Given the description of an element on the screen output the (x, y) to click on. 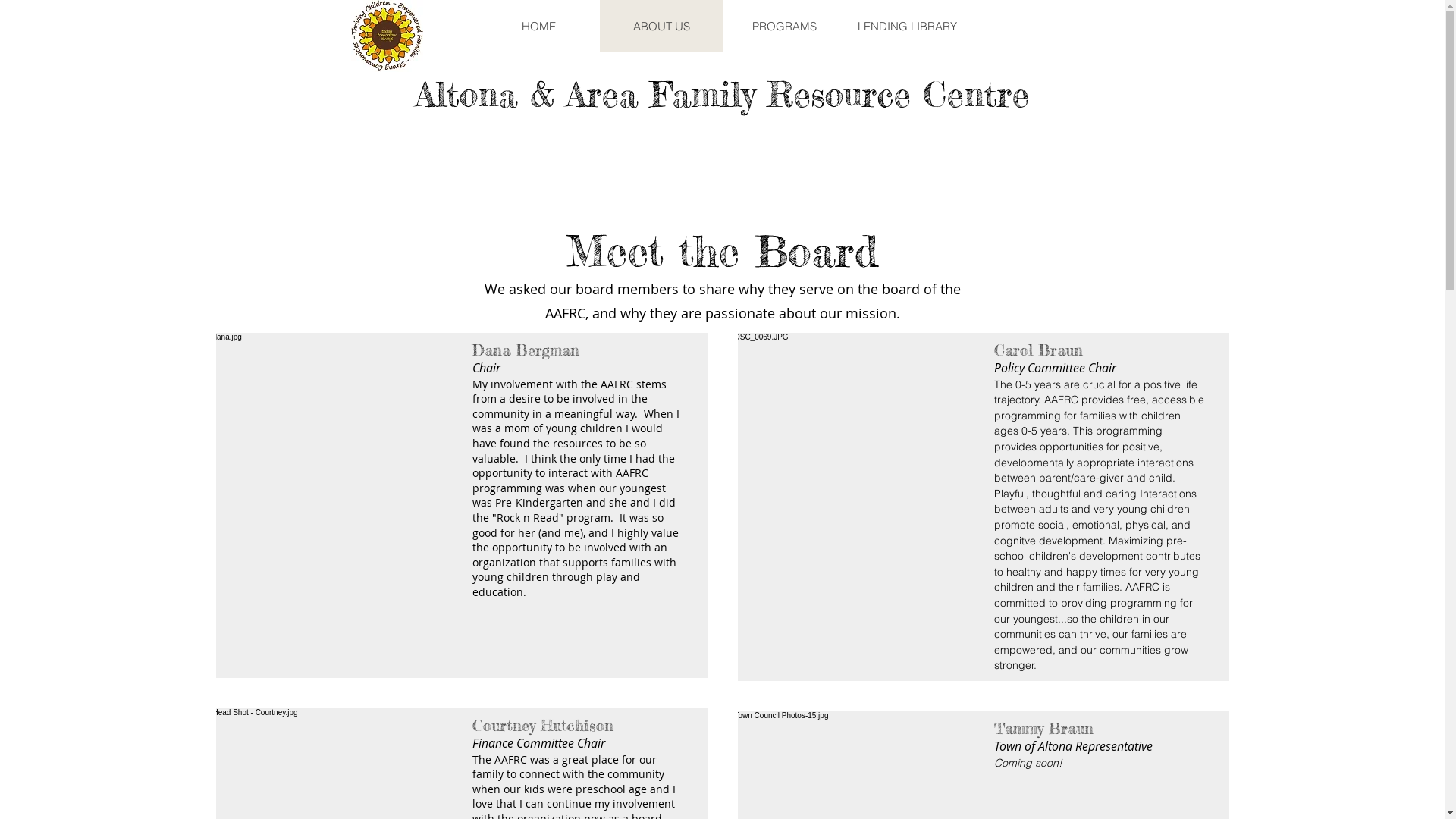
HOME Element type: text (537, 26)
PROGRAMS Element type: text (782, 26)
LENDING LIBRARY Element type: text (905, 26)
Altona & Area Family Resource Centre Element type: text (722, 94)
ABOUT US Element type: text (660, 26)
